Given the description of an element on the screen output the (x, y) to click on. 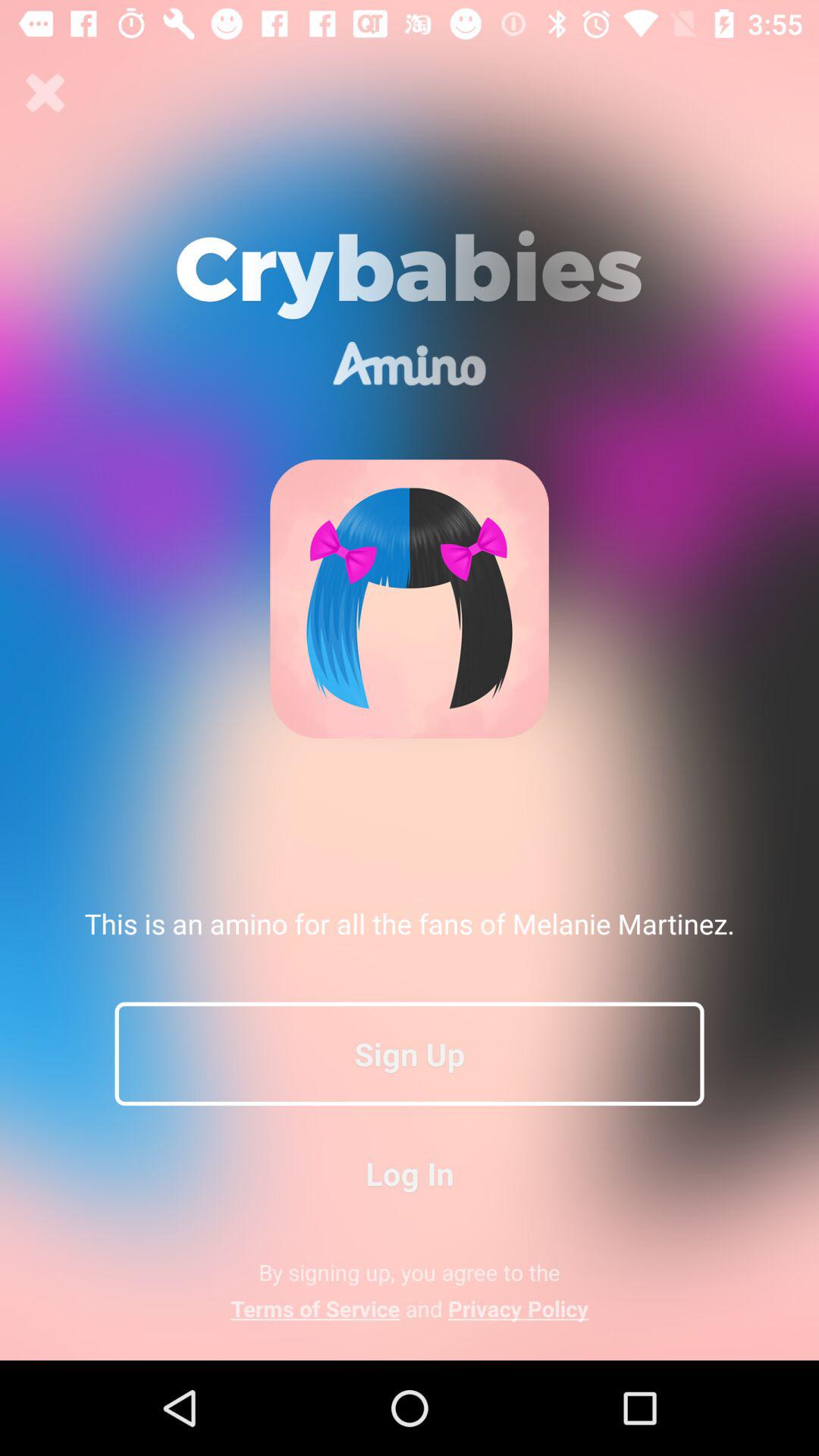
swipe until terms of service app (409, 1308)
